Given the description of an element on the screen output the (x, y) to click on. 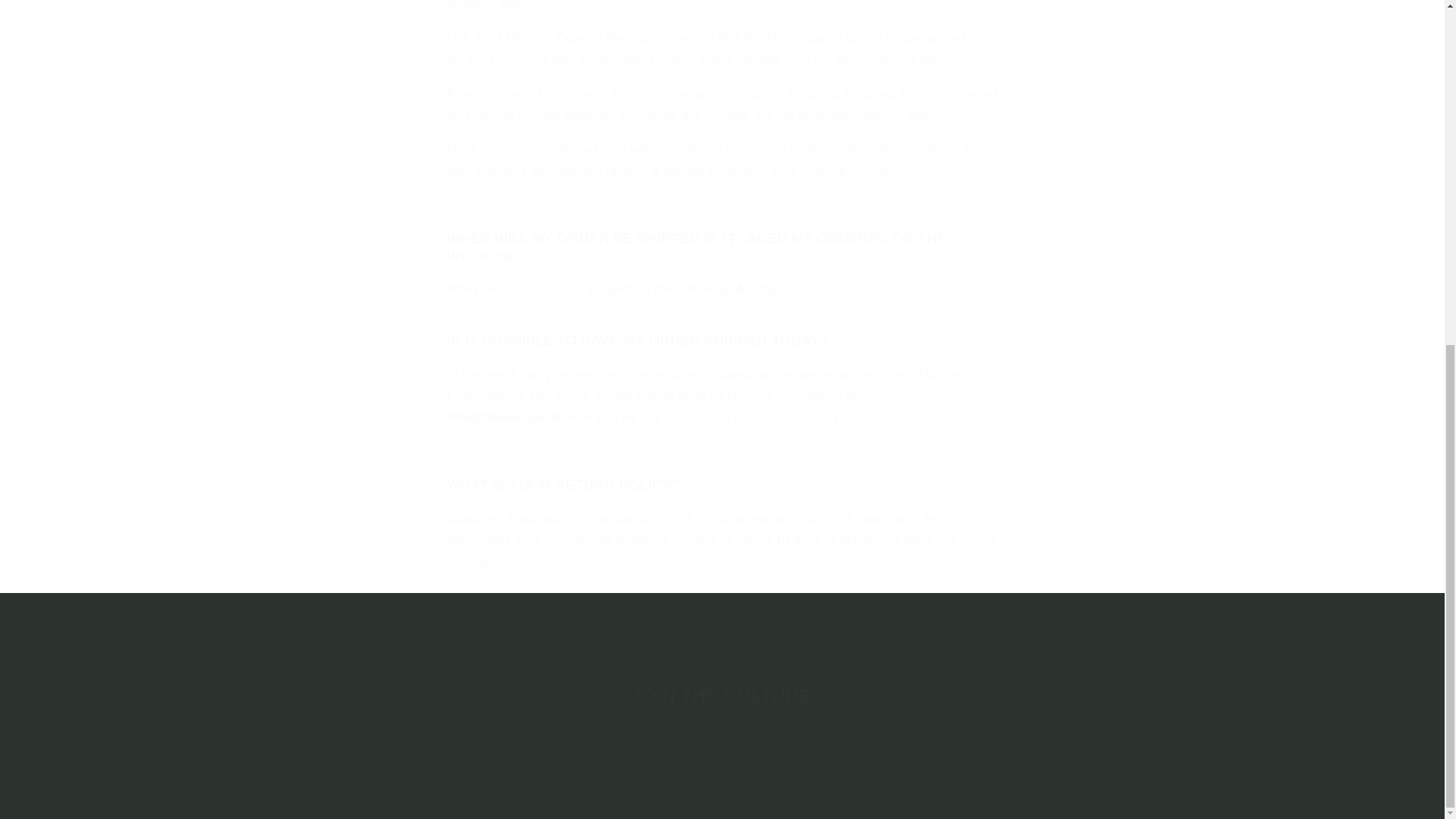
Email (722, 740)
Return Policy (580, 595)
JOIN THE CULTURE (721, 695)
